Given the description of an element on the screen output the (x, y) to click on. 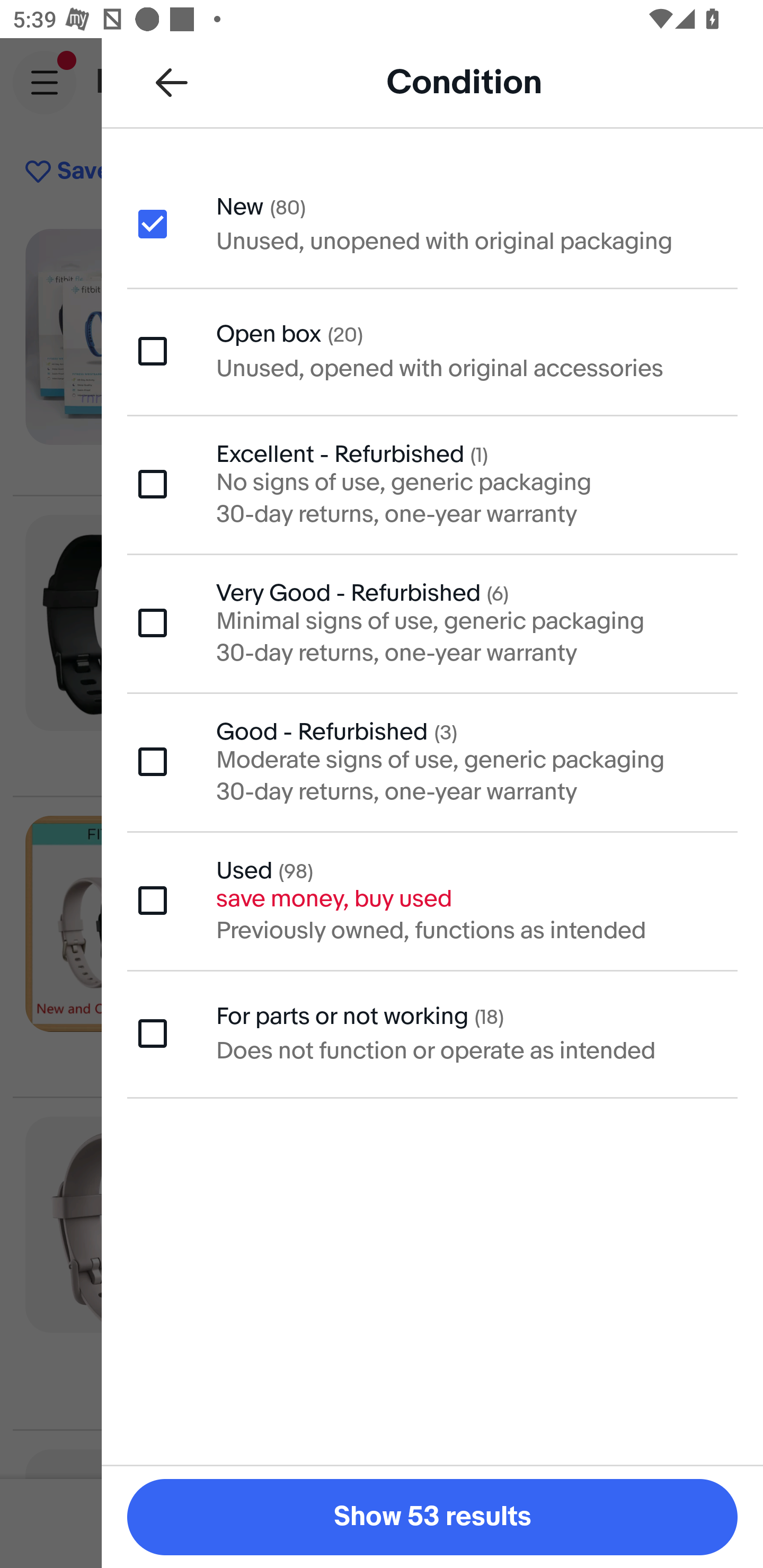
Back to all refinements (171, 81)
New (80) Unused, unopened with original packaging (432, 222)
Show 53 results (432, 1516)
